Given the description of an element on the screen output the (x, y) to click on. 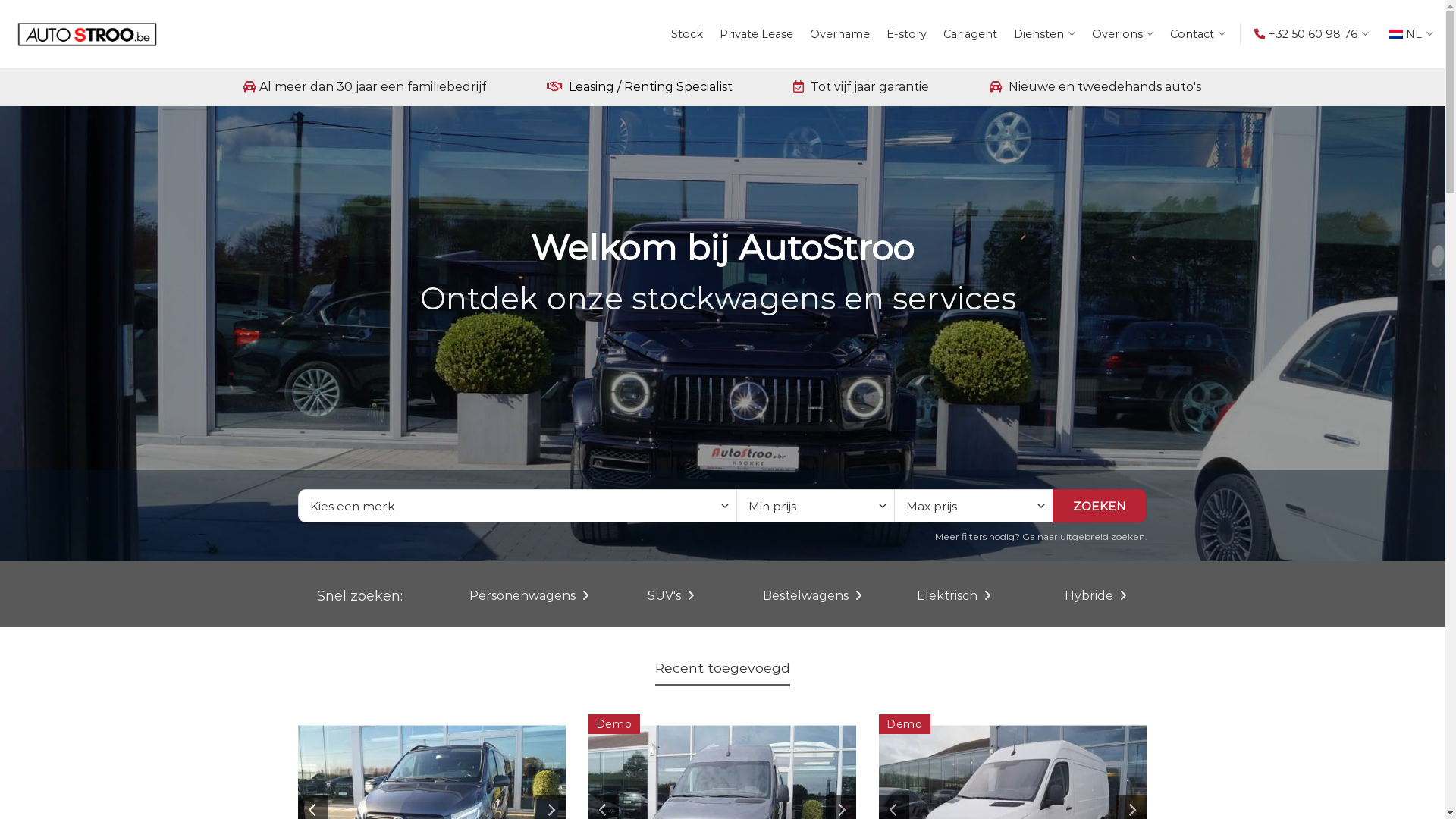
Diensten Element type: text (1044, 33)
Elektrisch Element type: text (953, 595)
NL Element type: text (1411, 33)
Over ons Element type: text (1123, 33)
Hybride Element type: text (1095, 595)
Recent toegevoegd Element type: text (722, 667)
Private Lease Element type: text (756, 33)
+32 50 60 98 76 Element type: text (1313, 33)
Bestelwagens Element type: text (811, 595)
Stroo Element type: hover (87, 34)
Personenwagens Element type: text (528, 595)
ZOEKEN Element type: text (1099, 505)
E-story Element type: text (906, 33)
Car agent Element type: text (970, 33)
uitgebreid zoeken. Element type: text (1103, 536)
Stock Element type: text (686, 33)
Overname Element type: text (839, 33)
SUV's Element type: text (670, 595)
Contact Element type: text (1197, 33)
